Given the description of an element on the screen output the (x, y) to click on. 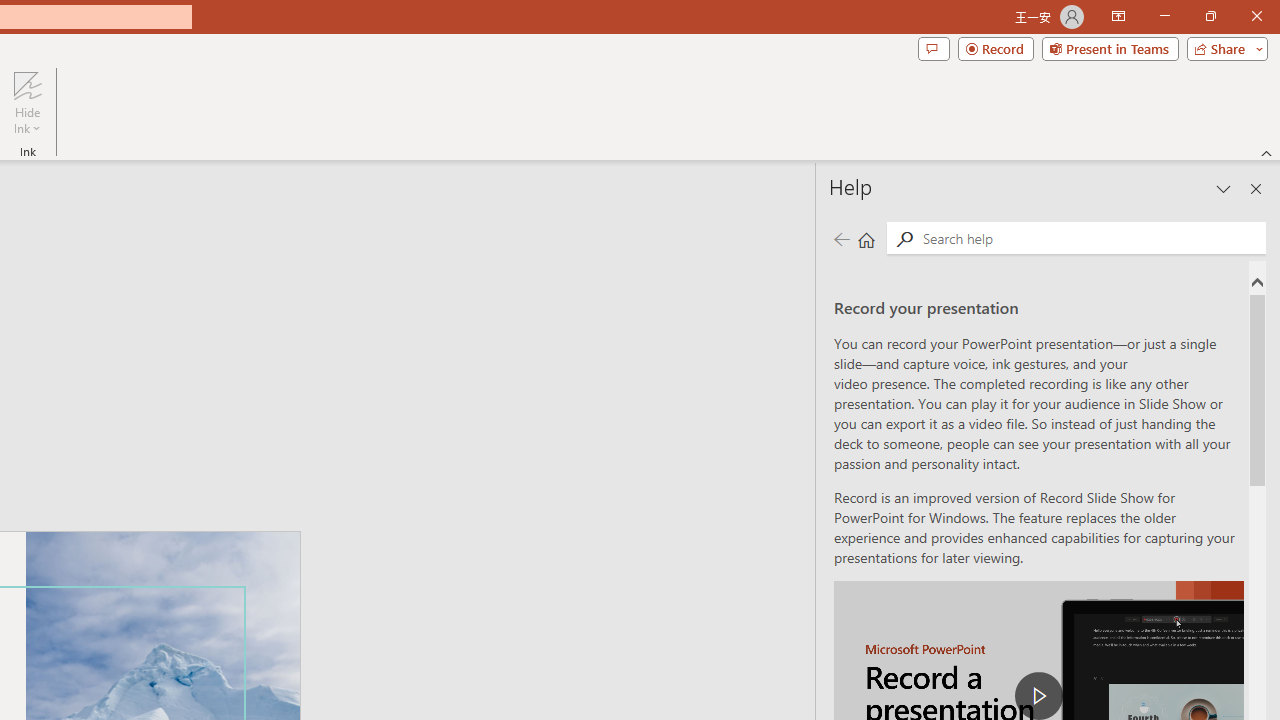
play Record a Presentation (1038, 695)
